Given the description of an element on the screen output the (x, y) to click on. 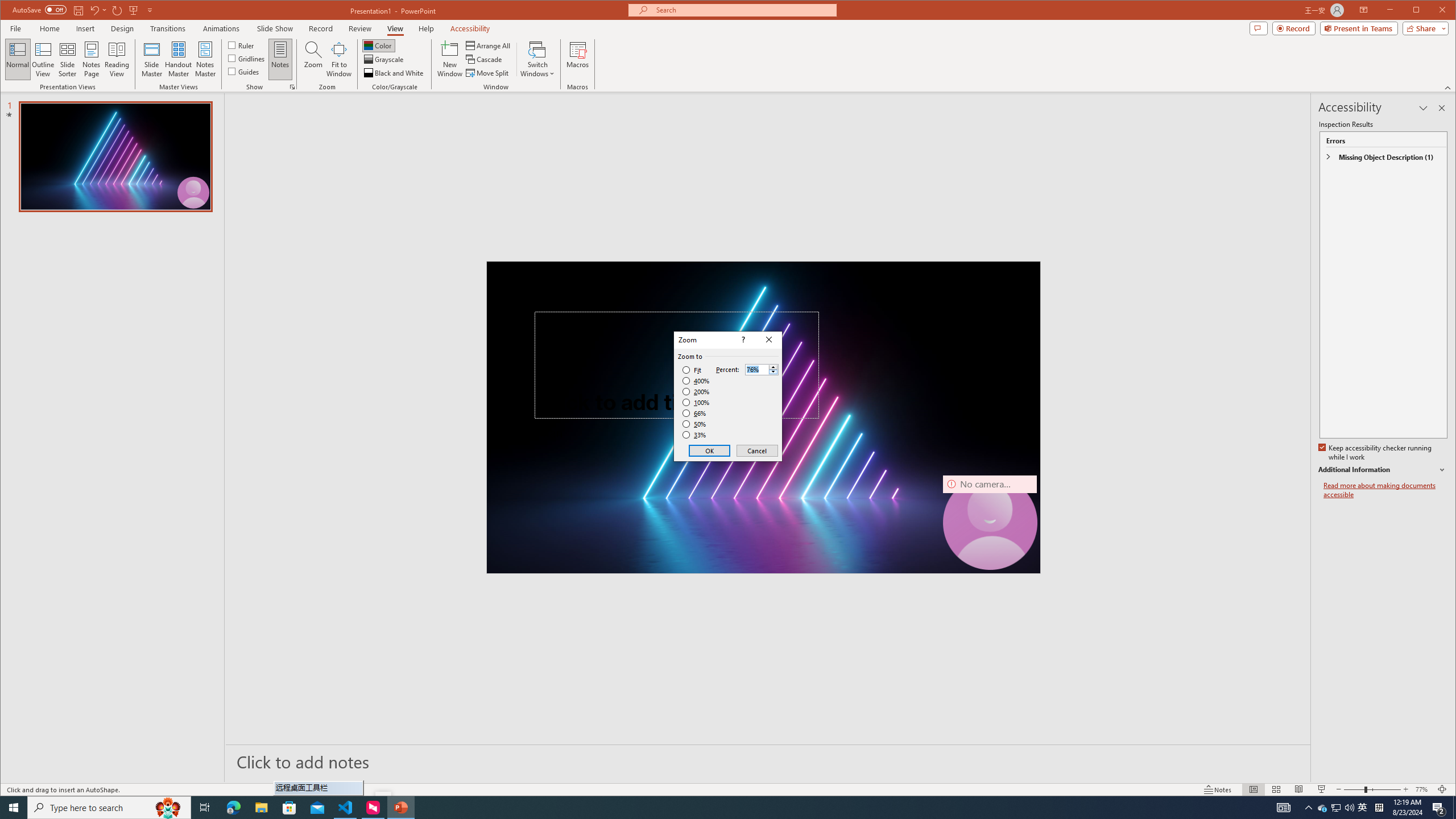
Move Split (488, 72)
Color (378, 45)
Cascade (484, 59)
Switch Windows (537, 59)
Gridlines (246, 57)
